Given the description of an element on the screen output the (x, y) to click on. 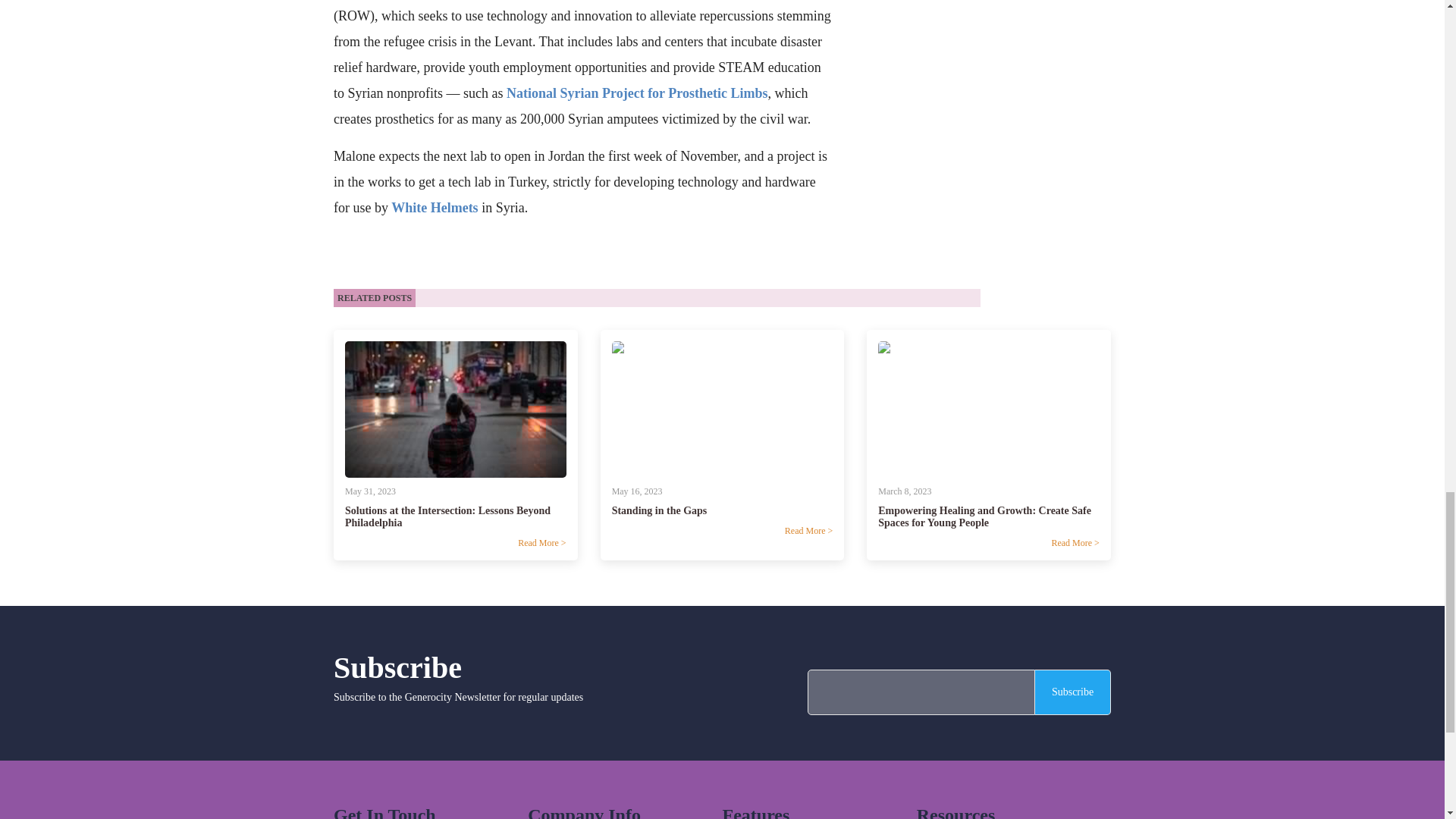
National Syrian Project for Prosthetic Limbs (636, 92)
Subscribe (1072, 691)
White Helmets (433, 207)
